Given the description of an element on the screen output the (x, y) to click on. 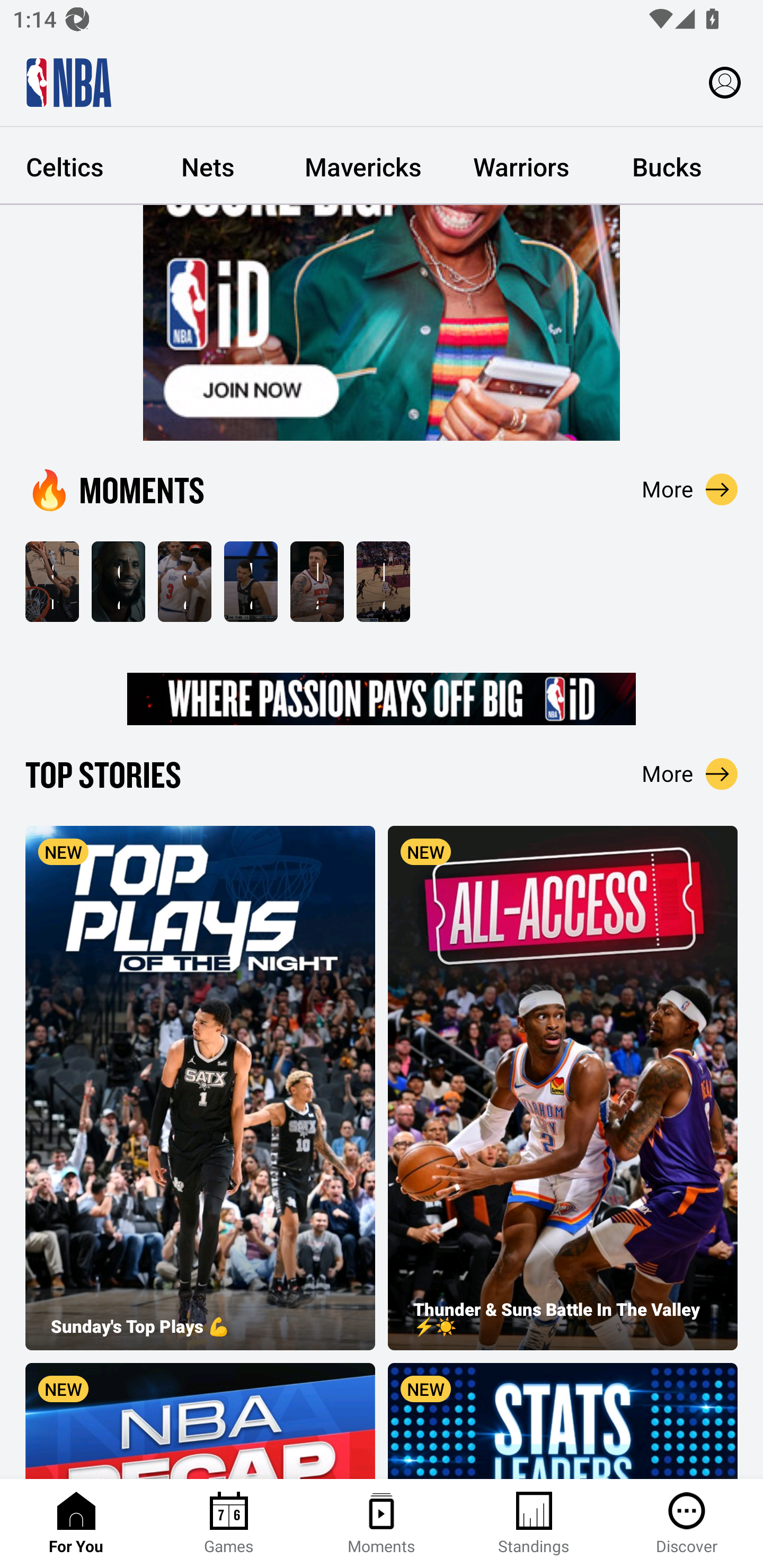
Profile (724, 81)
Celtics (67, 166)
Nets (207, 166)
Mavericks (363, 166)
Warriors (521, 166)
Bucks (666, 166)
More (689, 488)
Sunday's Top Plays In 30 Seconds ⏱ (51, 581)
Hartenstein Drops The Hammer 🔨 (317, 581)
More (689, 773)
NEW Sunday's Top Plays 💪 (200, 1088)
NEW Thunder & Suns Battle In The Valley ⚡☀ (562, 1088)
Games (228, 1523)
Moments (381, 1523)
Standings (533, 1523)
Discover (686, 1523)
